Given the description of an element on the screen output the (x, y) to click on. 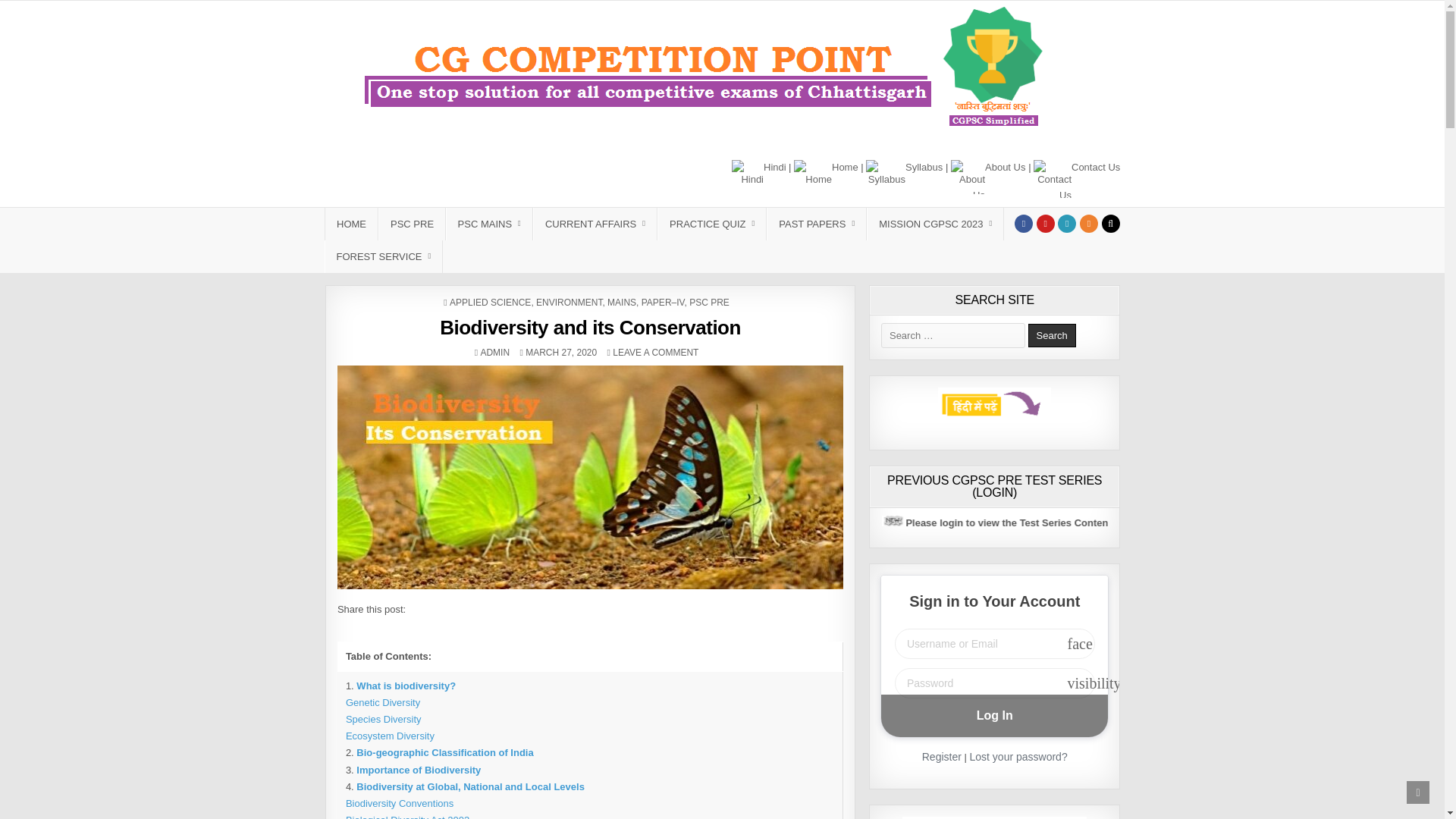
PSC PRE (411, 224)
Facebook (1023, 223)
CG Competition Point (410, 171)
Log In (994, 715)
Search (1051, 335)
CURRENT AFFAIRS (595, 224)
Hindi (759, 175)
Syllabus (904, 179)
PSC MAINS (488, 224)
About Us (987, 176)
Permanent Link to Biodiversity and its Conservation (590, 476)
Scroll to Top (1417, 792)
Search (1109, 223)
Youtube (1045, 223)
RSS (1088, 223)
